Given the description of an element on the screen output the (x, y) to click on. 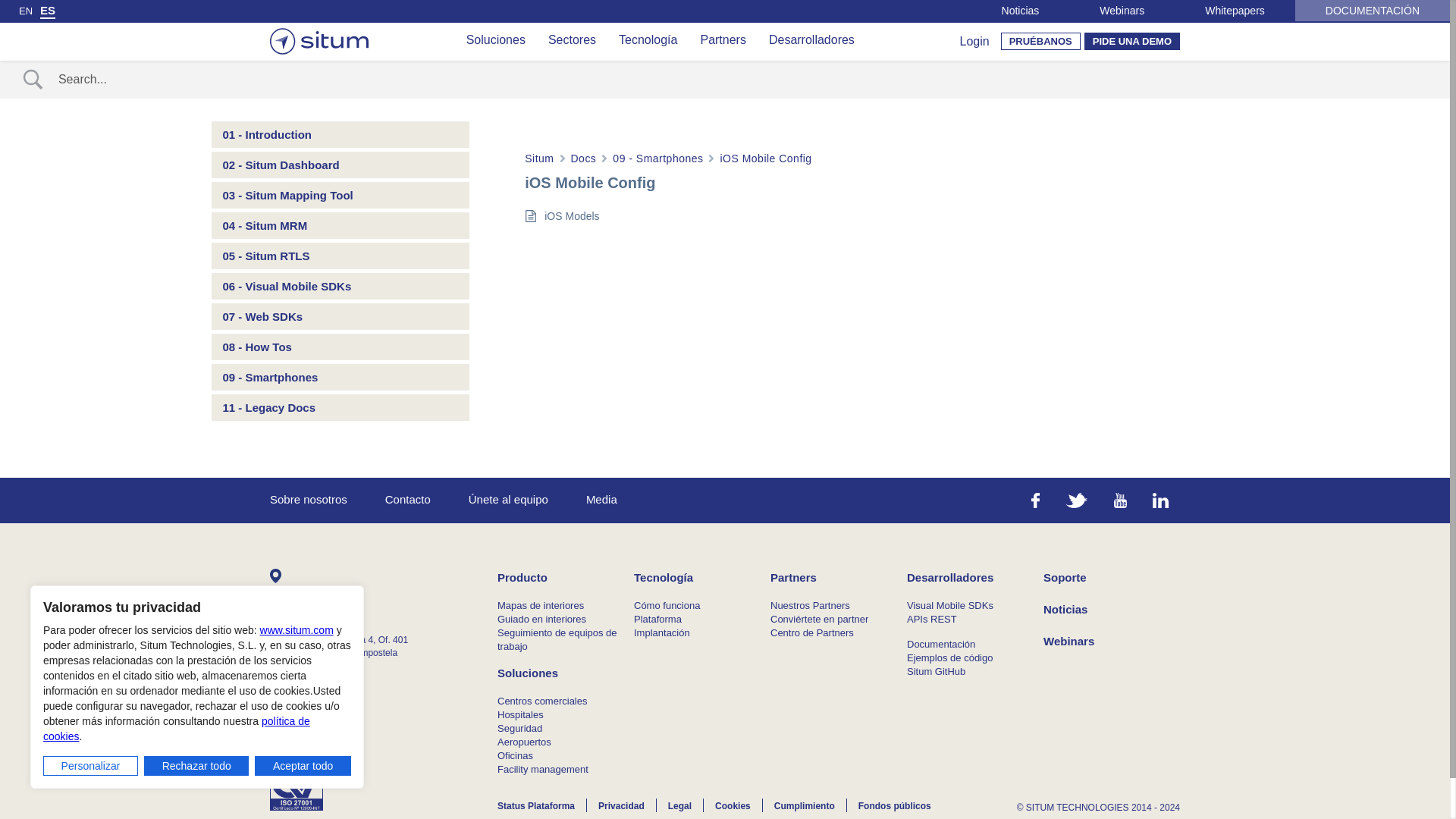
Rechazar todo (196, 765)
Aceptar todo (302, 765)
www.situm.com (296, 630)
Personalizar (90, 765)
